Given the description of an element on the screen output the (x, y) to click on. 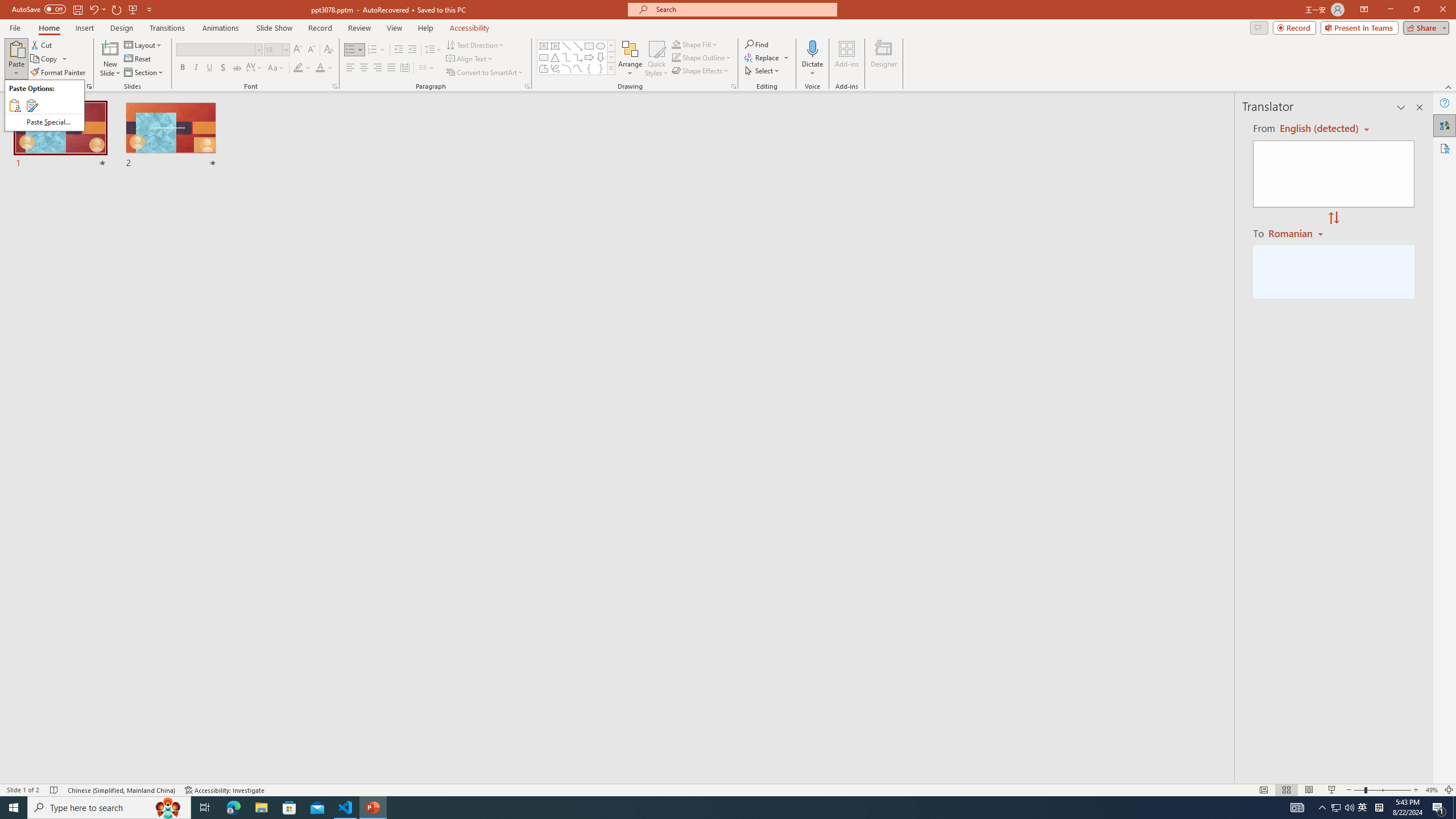
Romanian (1296, 232)
Line Spacing (433, 49)
Decrease Indent (398, 49)
Shape Outline (701, 56)
Spell Check No Errors (54, 790)
Increase Indent (412, 49)
Accessibility (1444, 147)
Microsoft search (742, 9)
Task View (204, 807)
